Given the description of an element on the screen output the (x, y) to click on. 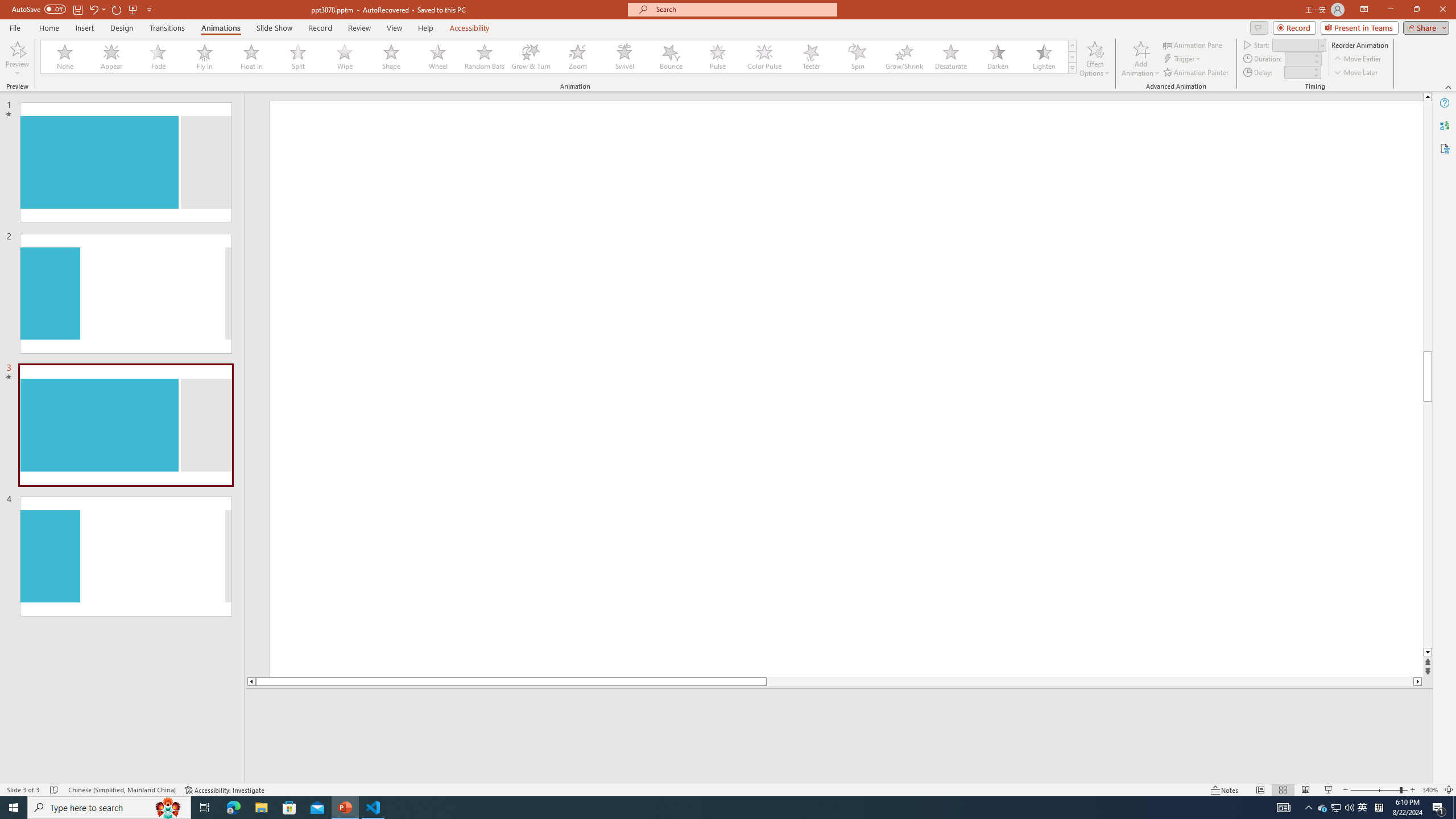
Animation Duration (1298, 58)
Zoom 340% (1430, 790)
Move Earlier (1357, 58)
Pulse (717, 56)
AutomationID: AnimationGallery (558, 56)
Less (1315, 75)
Effect Options (1094, 58)
